Given the description of an element on the screen output the (x, y) to click on. 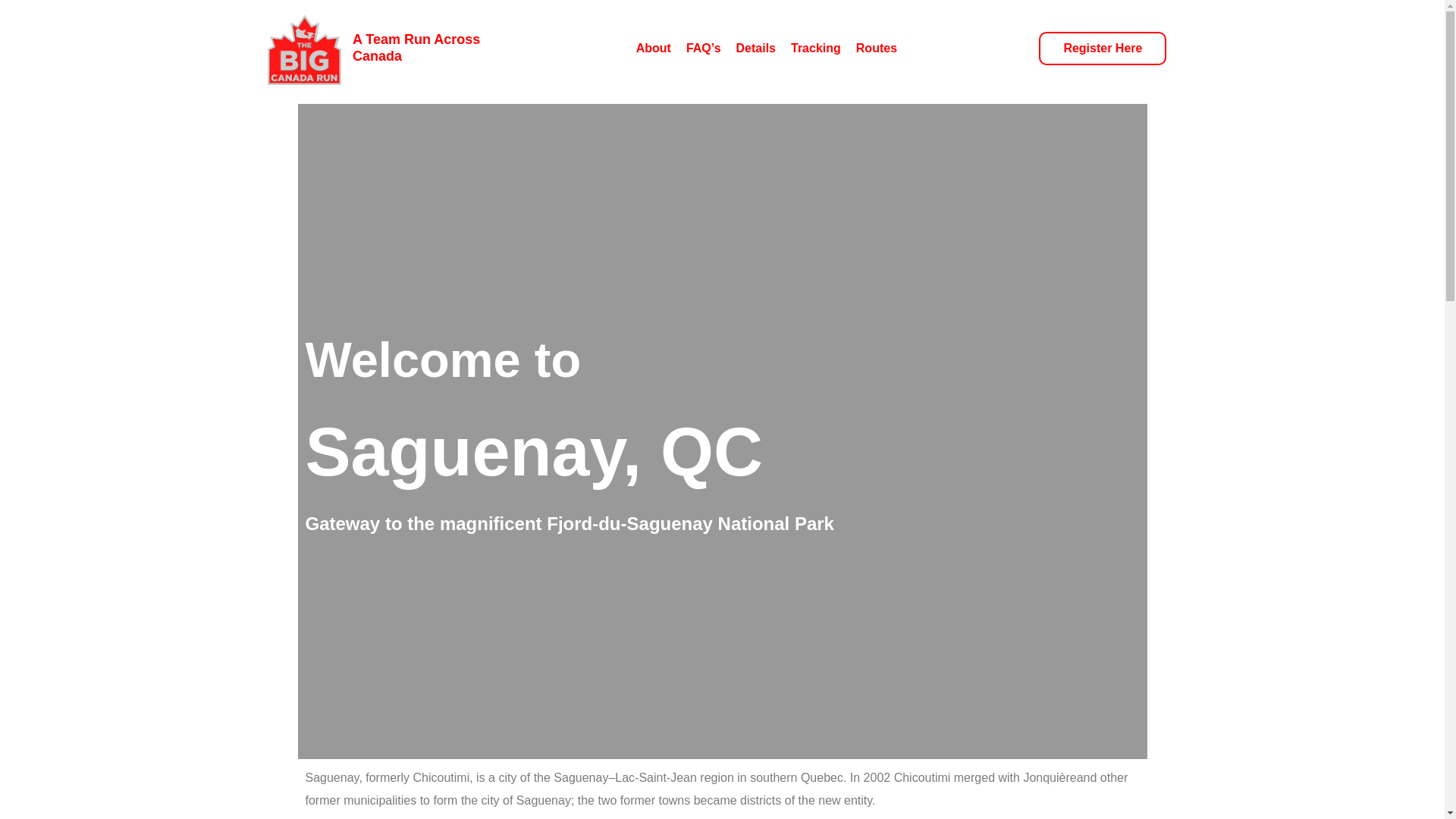
About (653, 48)
Tracking (815, 48)
Register Here (1102, 48)
Routes (876, 48)
Details (756, 48)
